Given the description of an element on the screen output the (x, y) to click on. 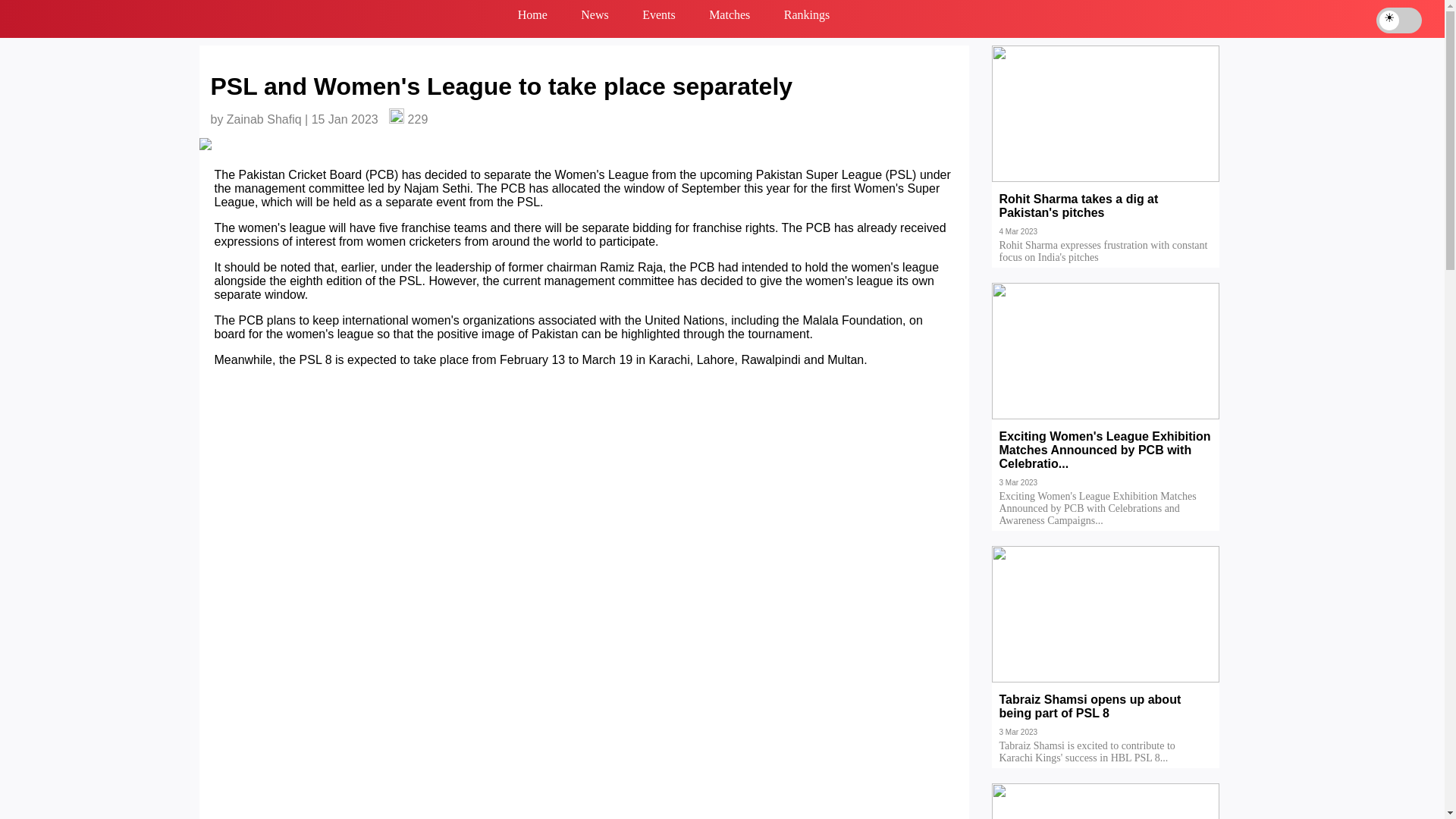
Events (658, 19)
Matches (729, 19)
Rohit Sharma takes a dig at Pakistan's pitches (1105, 216)
Tabraiz Shamsi opens up about being part of PSL 8 (1105, 717)
Home (532, 19)
Rankings (806, 19)
News (594, 19)
